Given the description of an element on the screen output the (x, y) to click on. 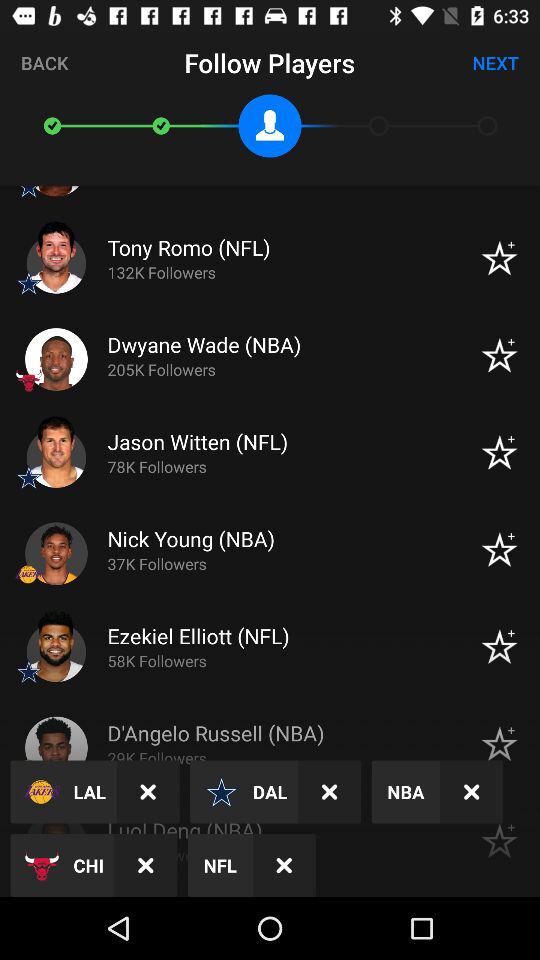
press the item above 23k followers item (471, 791)
